Given the description of an element on the screen output the (x, y) to click on. 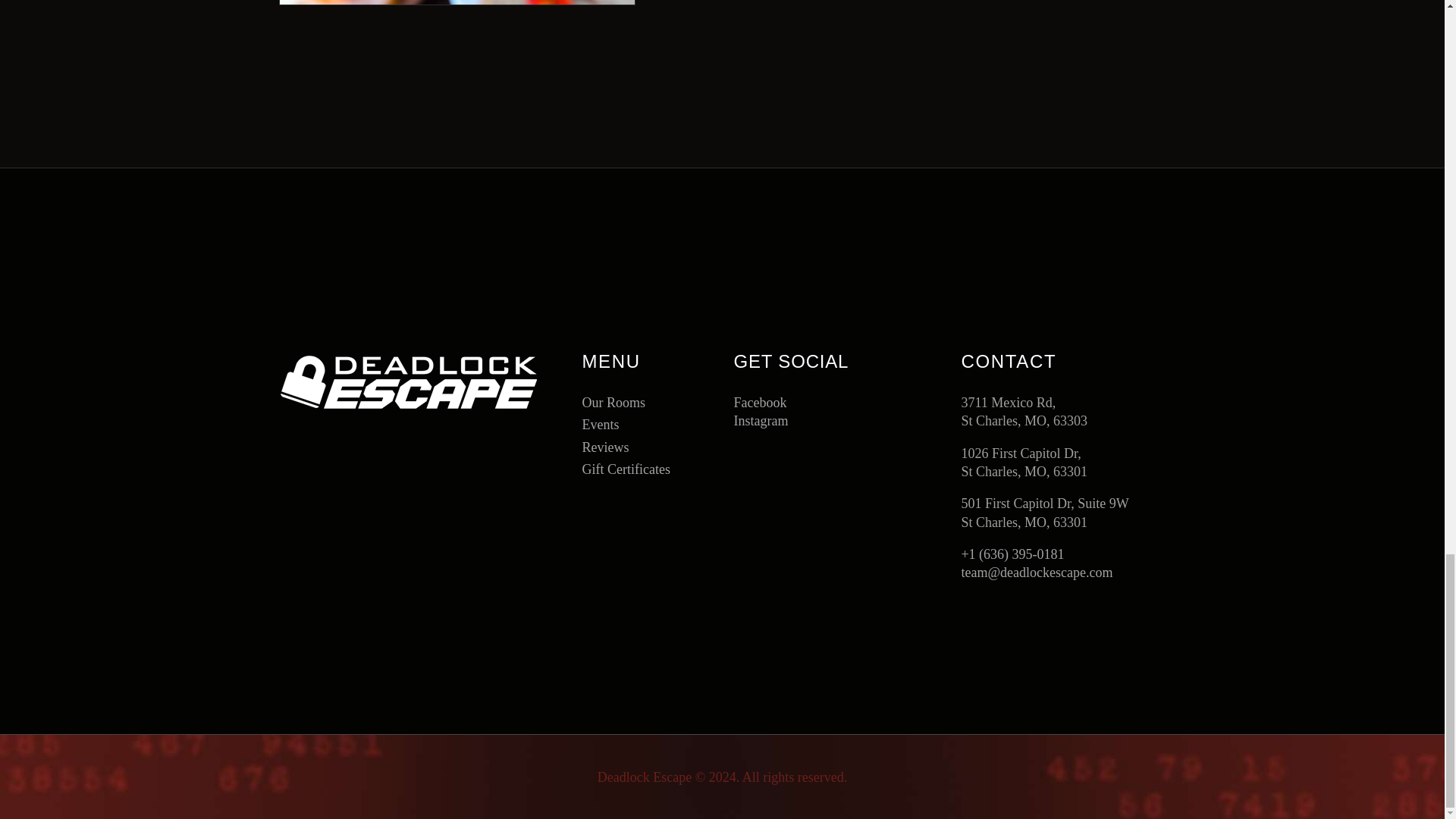
Events (599, 424)
Instagram (797, 420)
Gift Certificates (624, 468)
Reviews (604, 447)
Our Rooms (612, 402)
Facebook (797, 402)
